Given the description of an element on the screen output the (x, y) to click on. 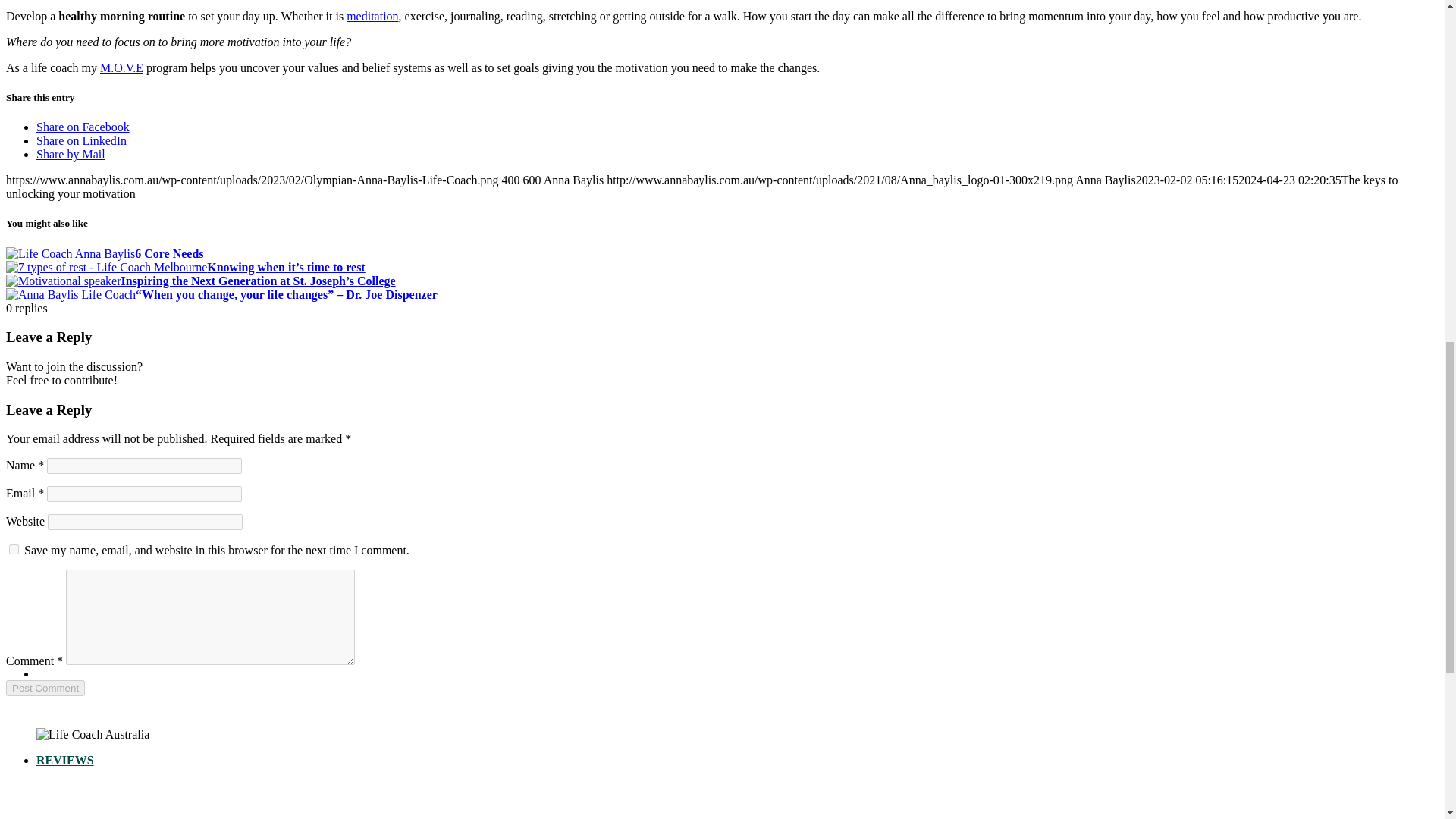
REVIEWS (65, 759)
yes (13, 549)
Anna Baylis Motivational speaker (62, 281)
Share on LinkedIn (81, 140)
Anna Baylis Life Coach handstand (70, 254)
Share on Facebook (82, 126)
Share by Mail (70, 154)
6 Core Needs (104, 253)
M.O.V.E (121, 67)
Post Comment (44, 688)
Life Coach Anna Baylis Meditation mindfulness (105, 267)
meditation (371, 15)
6 Core Needs (104, 253)
Post Comment (44, 688)
